Given the description of an element on the screen output the (x, y) to click on. 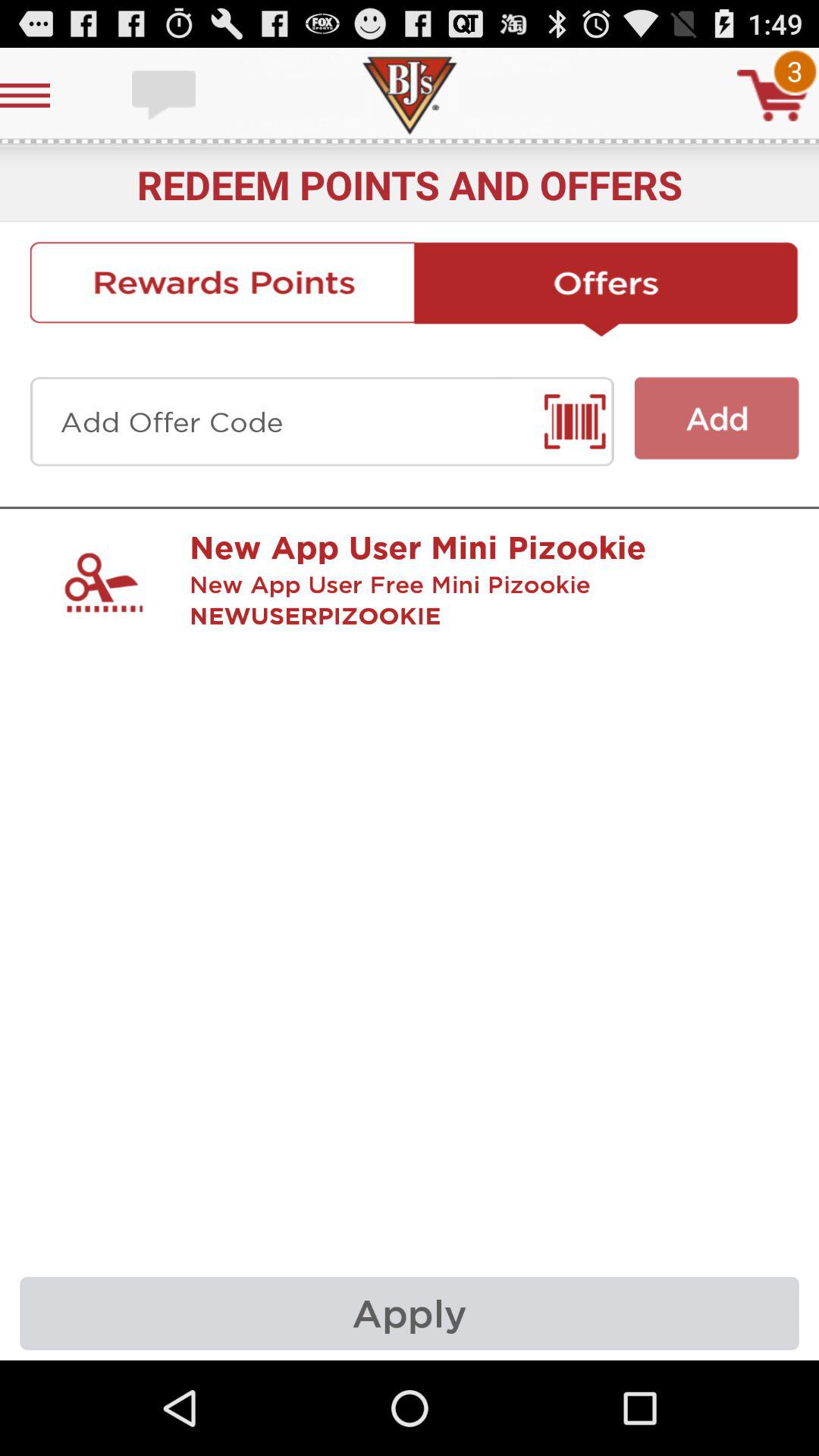
click rewards points to get rewards (222, 289)
